Given the description of an element on the screen output the (x, y) to click on. 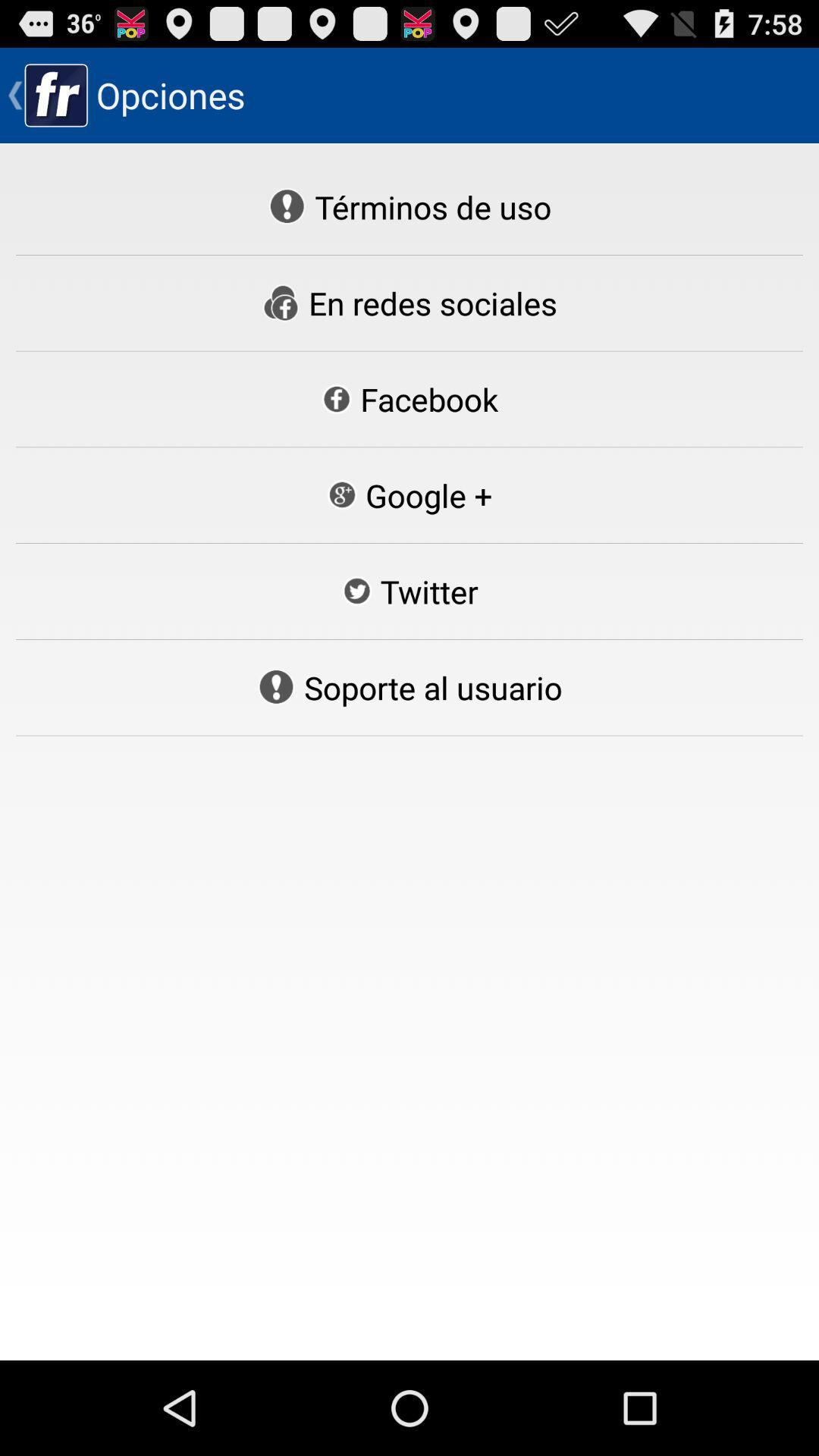
select item below en redes sociales item (409, 399)
